Given the description of an element on the screen output the (x, y) to click on. 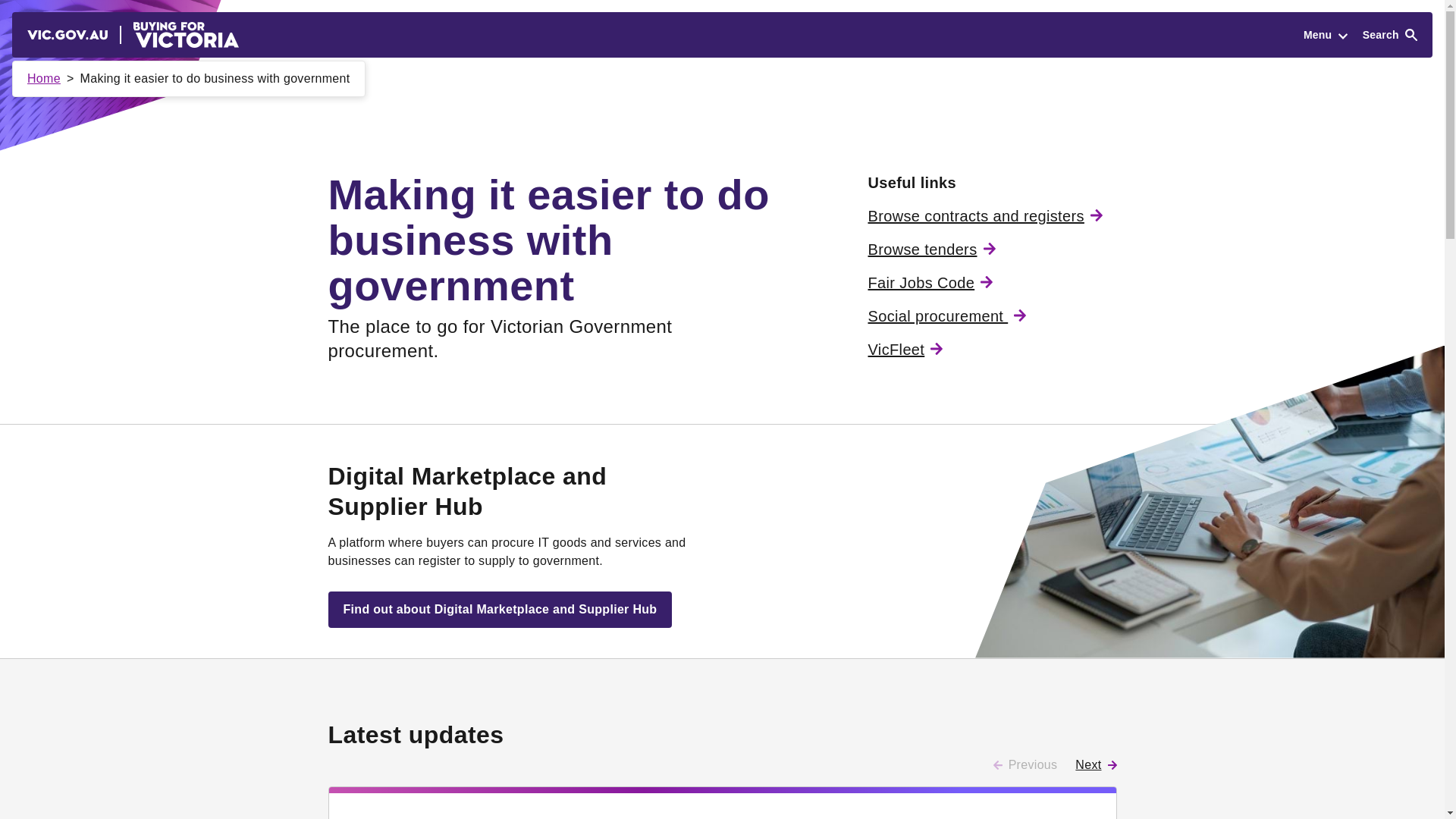
Fair Jobs Code (929, 282)
Browse contracts and registers (984, 216)
Browse tenders (930, 248)
Social procurement (946, 315)
VicFleet (904, 349)
Next (1095, 764)
Previous (1025, 764)
Home (44, 78)
Find out about Digital Marketplace and Supplier Hub (499, 609)
